Given the description of an element on the screen output the (x, y) to click on. 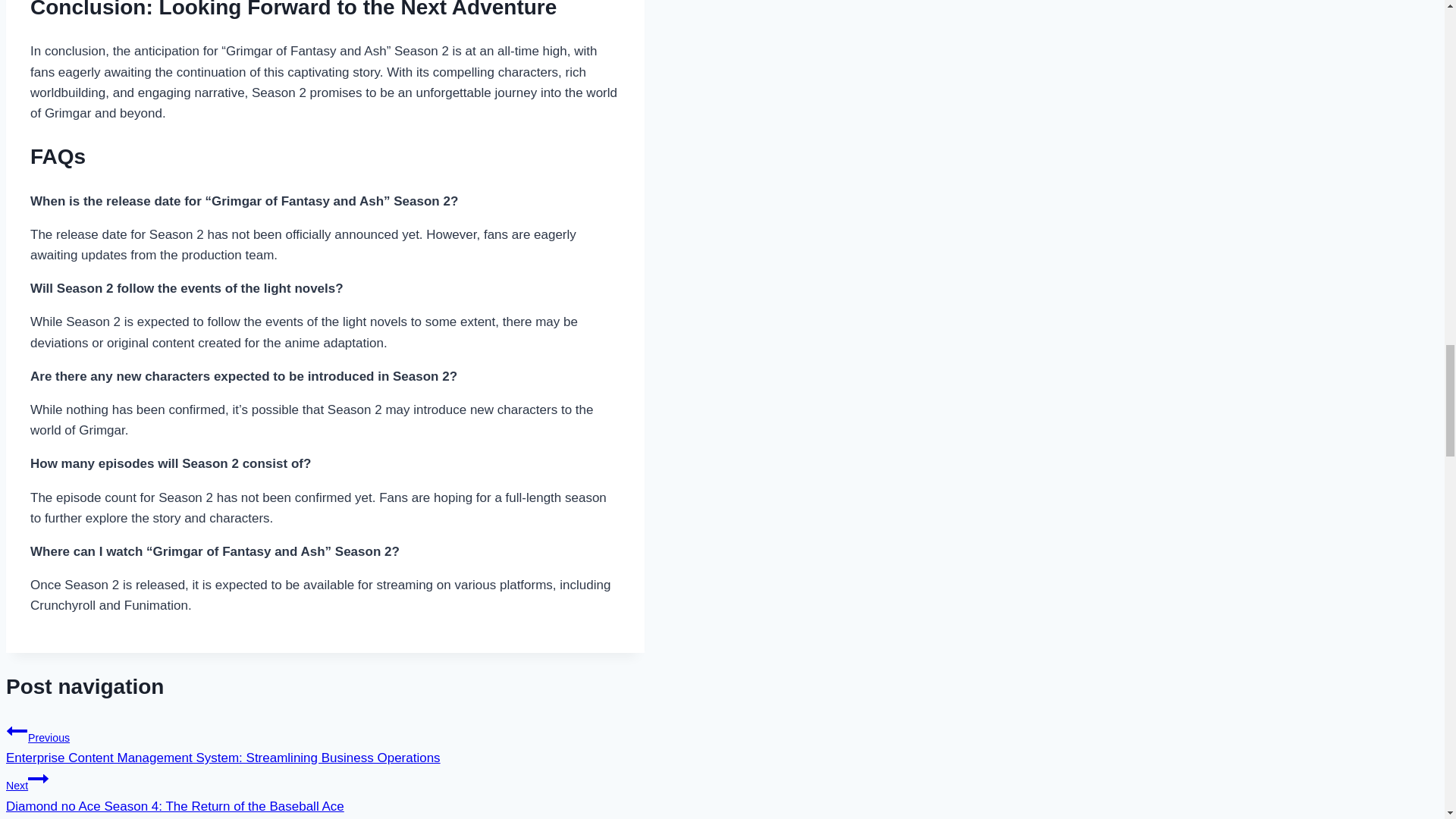
Continue (37, 778)
Previous (16, 731)
